Given the description of an element on the screen output the (x, y) to click on. 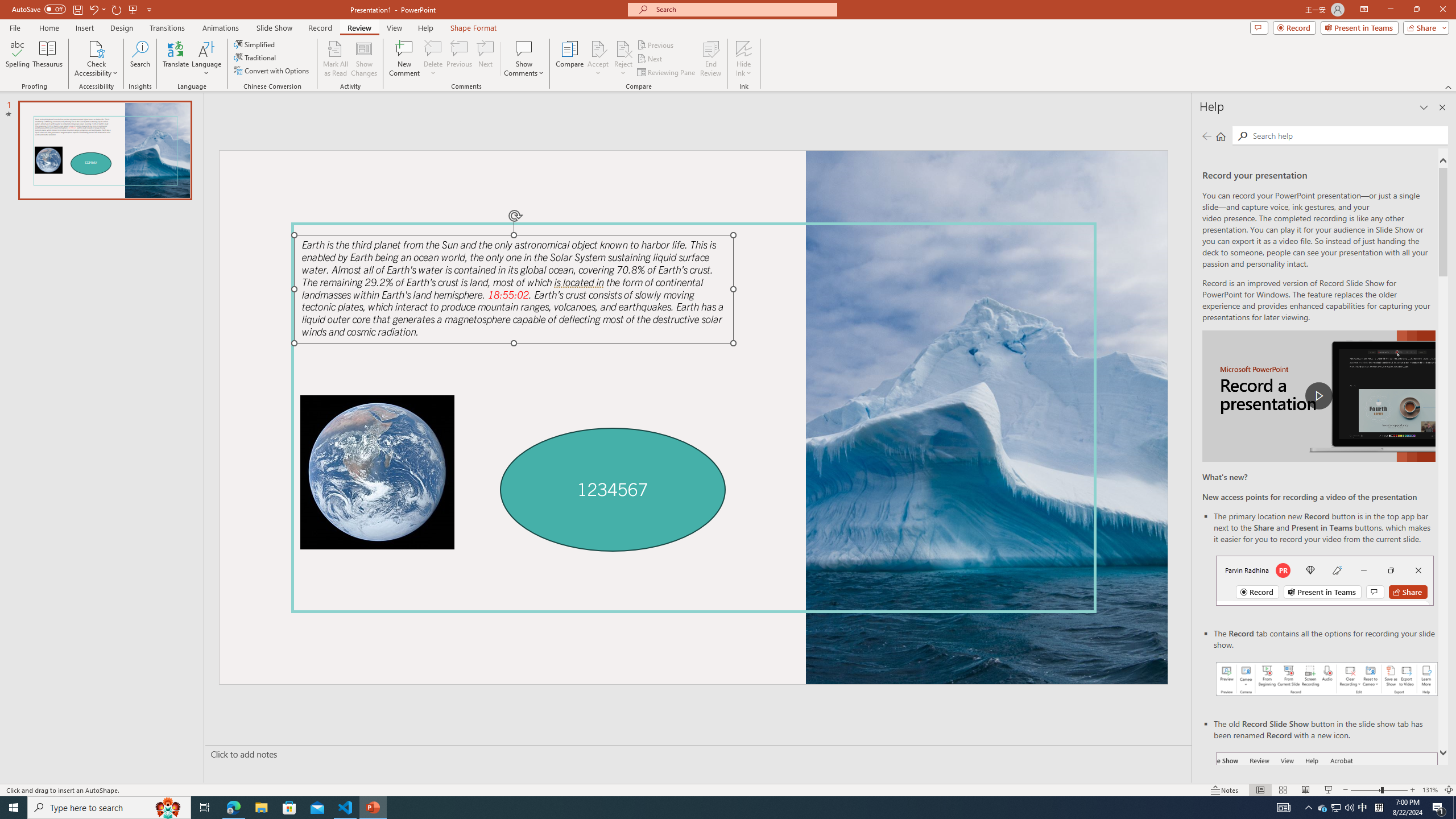
Next (649, 58)
Reject Change (622, 48)
Reviewing Pane (666, 72)
Reject (622, 58)
Record button in top bar (1324, 580)
Shape Format (473, 28)
Show Comments (524, 58)
